Given the description of an element on the screen output the (x, y) to click on. 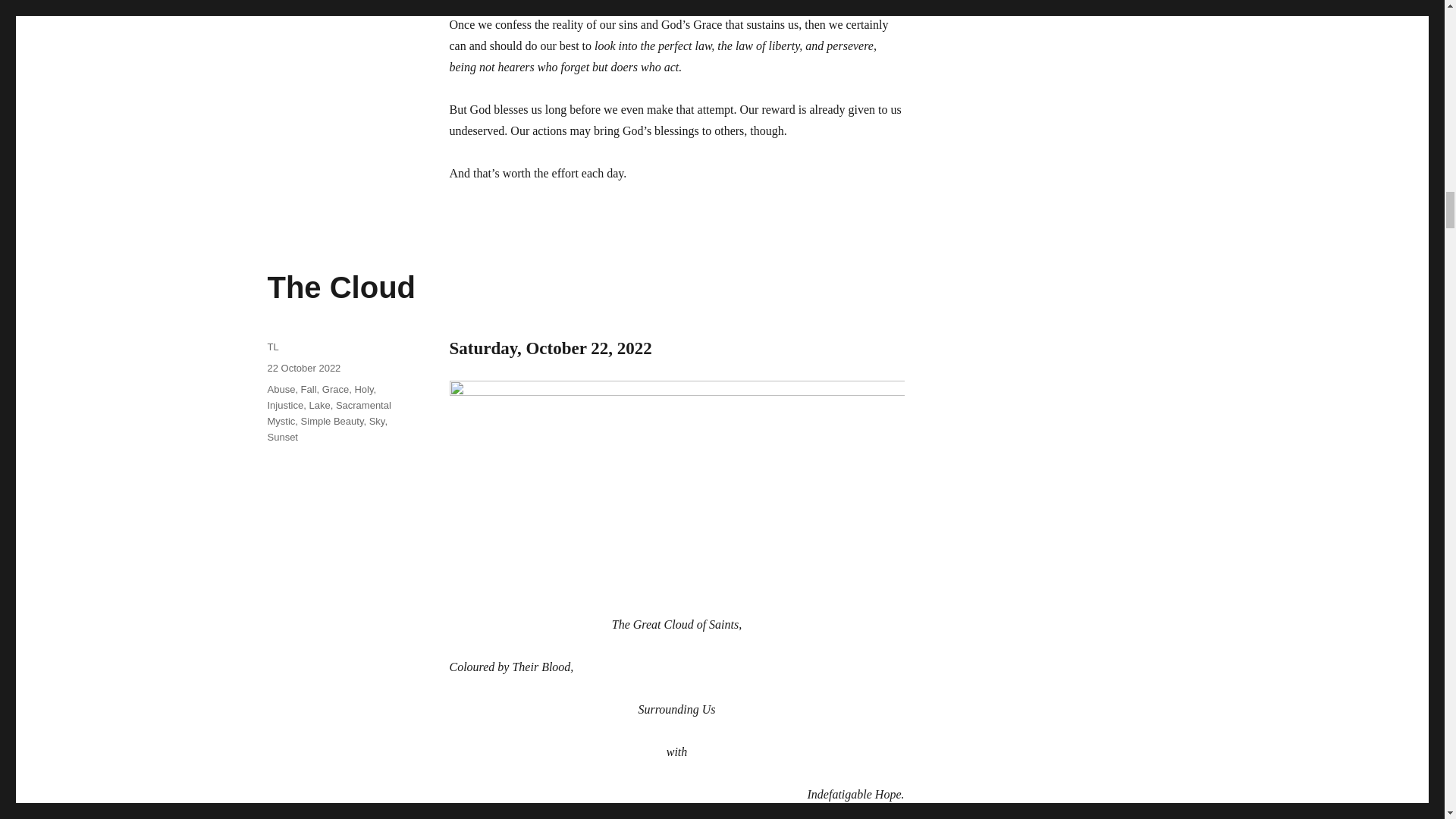
Simple Beauty (332, 420)
Fall (309, 389)
The Cloud (340, 287)
Abuse (280, 389)
Sacramental Mystic (328, 412)
Grace (335, 389)
TL (272, 346)
Lake (319, 405)
Holy (362, 389)
Sky (377, 420)
Injustice (284, 405)
22 October 2022 (303, 367)
Sunset (281, 437)
